Given the description of an element on the screen output the (x, y) to click on. 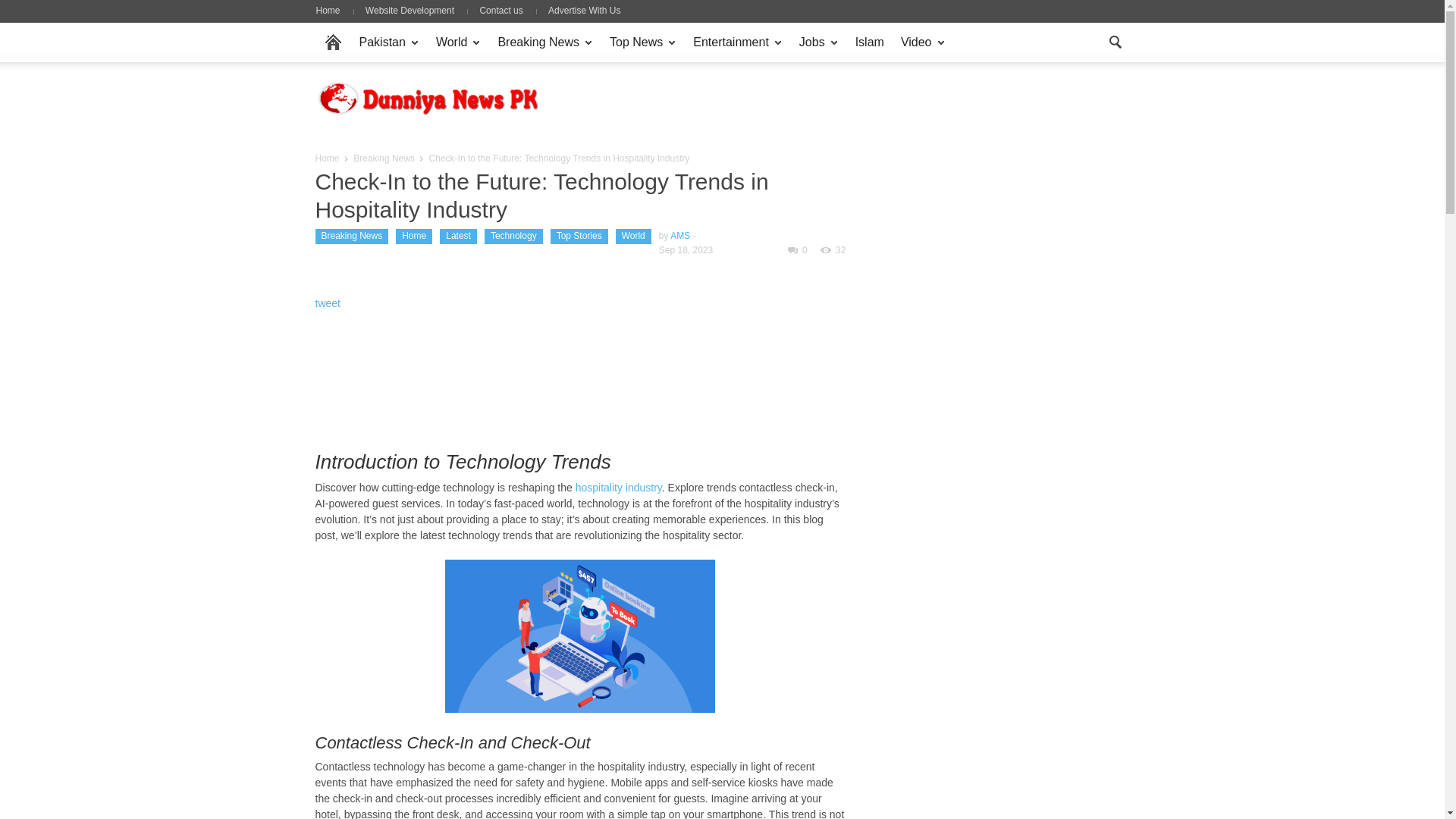
Home (332, 9)
Advertise With Us (584, 9)
Contact us (500, 9)
Website Development (409, 9)
